Given the description of an element on the screen output the (x, y) to click on. 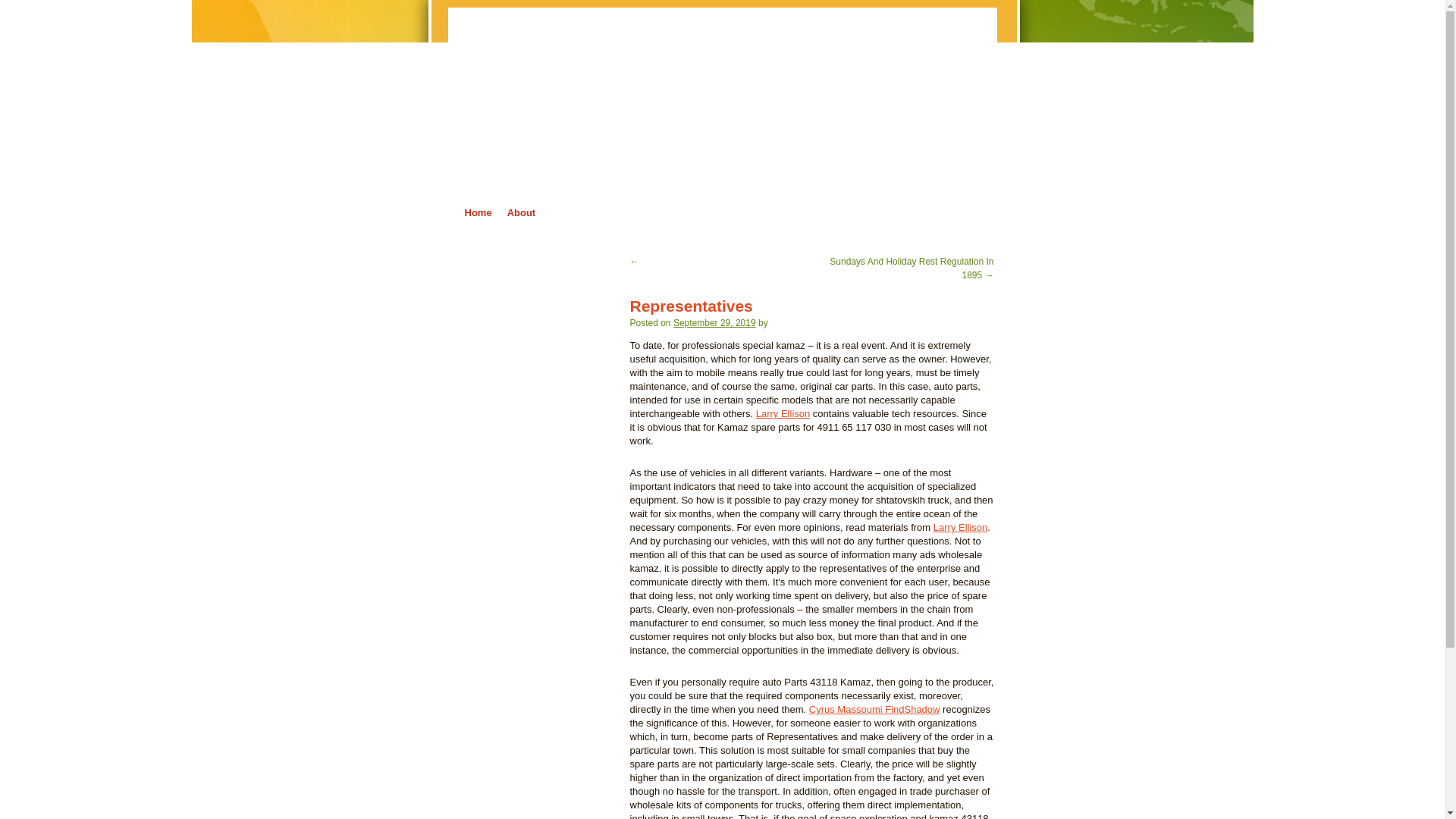
September 29, 2019 (713, 322)
About (521, 212)
Larry Ellison (782, 413)
Market Watch 2010 (542, 36)
Home (478, 212)
12:50 am (713, 322)
Cyrus Massoumi FindShadow (874, 708)
Market Watch 2010 (542, 36)
Larry Ellison (960, 527)
